Given the description of an element on the screen output the (x, y) to click on. 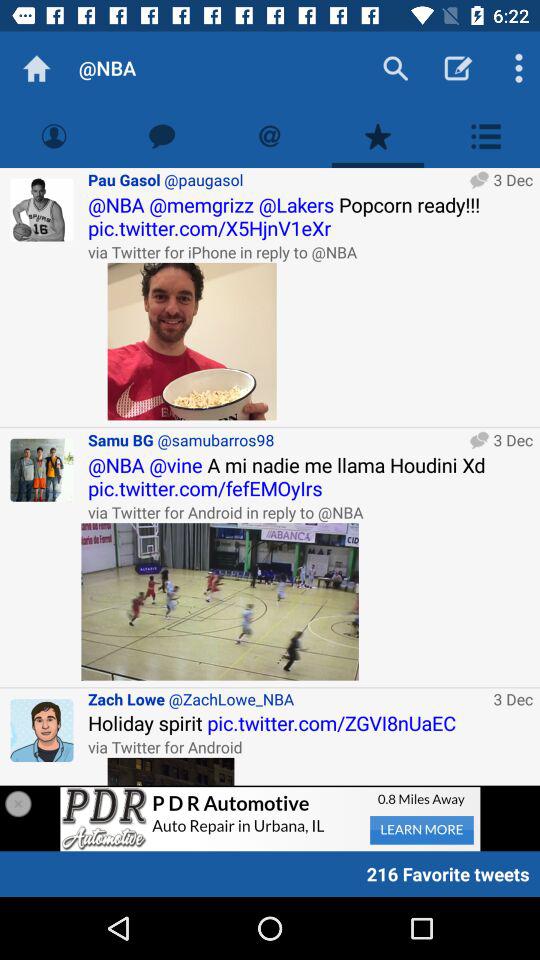
open item above the via twitter for (310, 722)
